Given the description of an element on the screen output the (x, y) to click on. 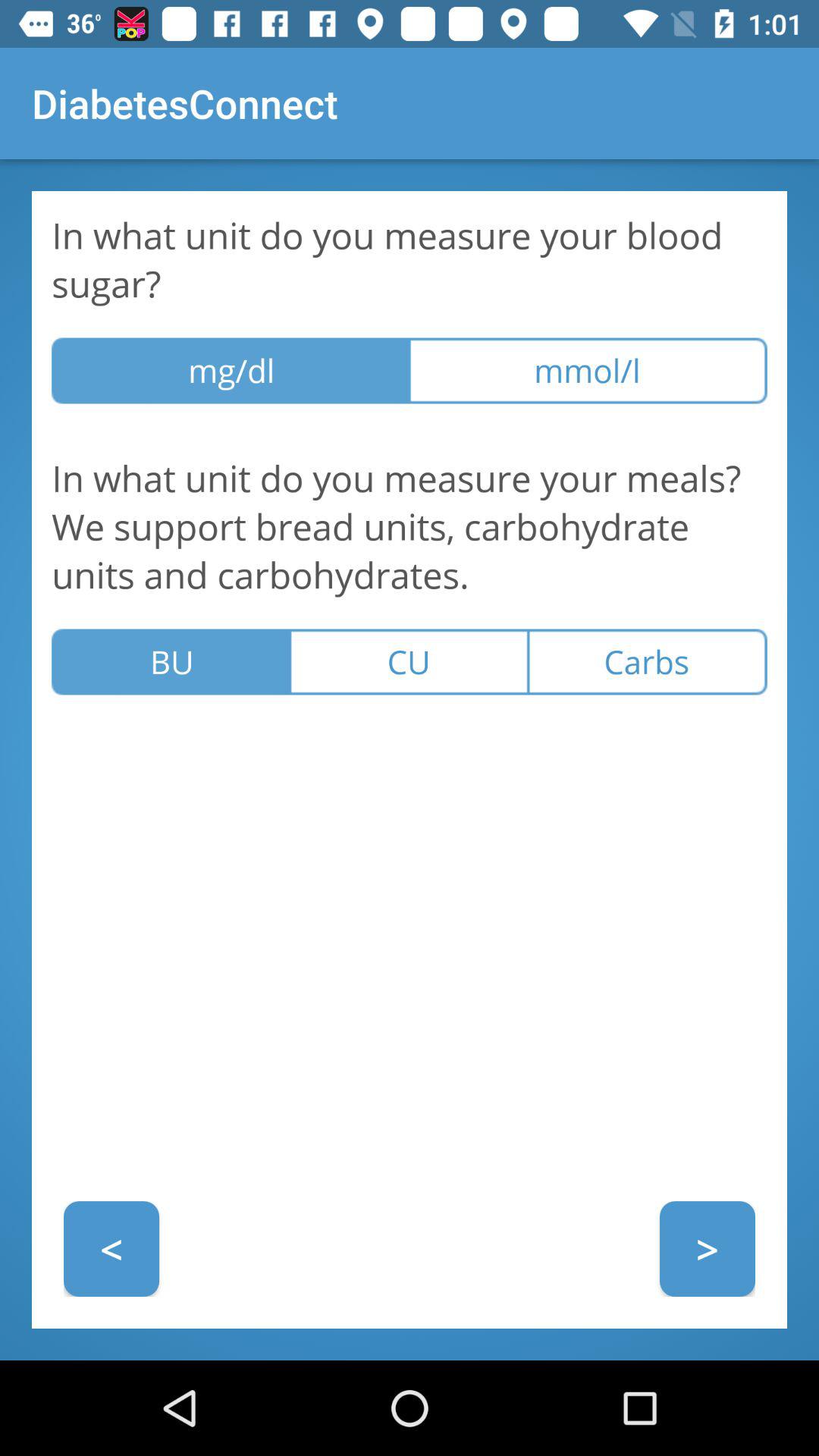
click the item to the left of the carbs item (409, 662)
